Given the description of an element on the screen output the (x, y) to click on. 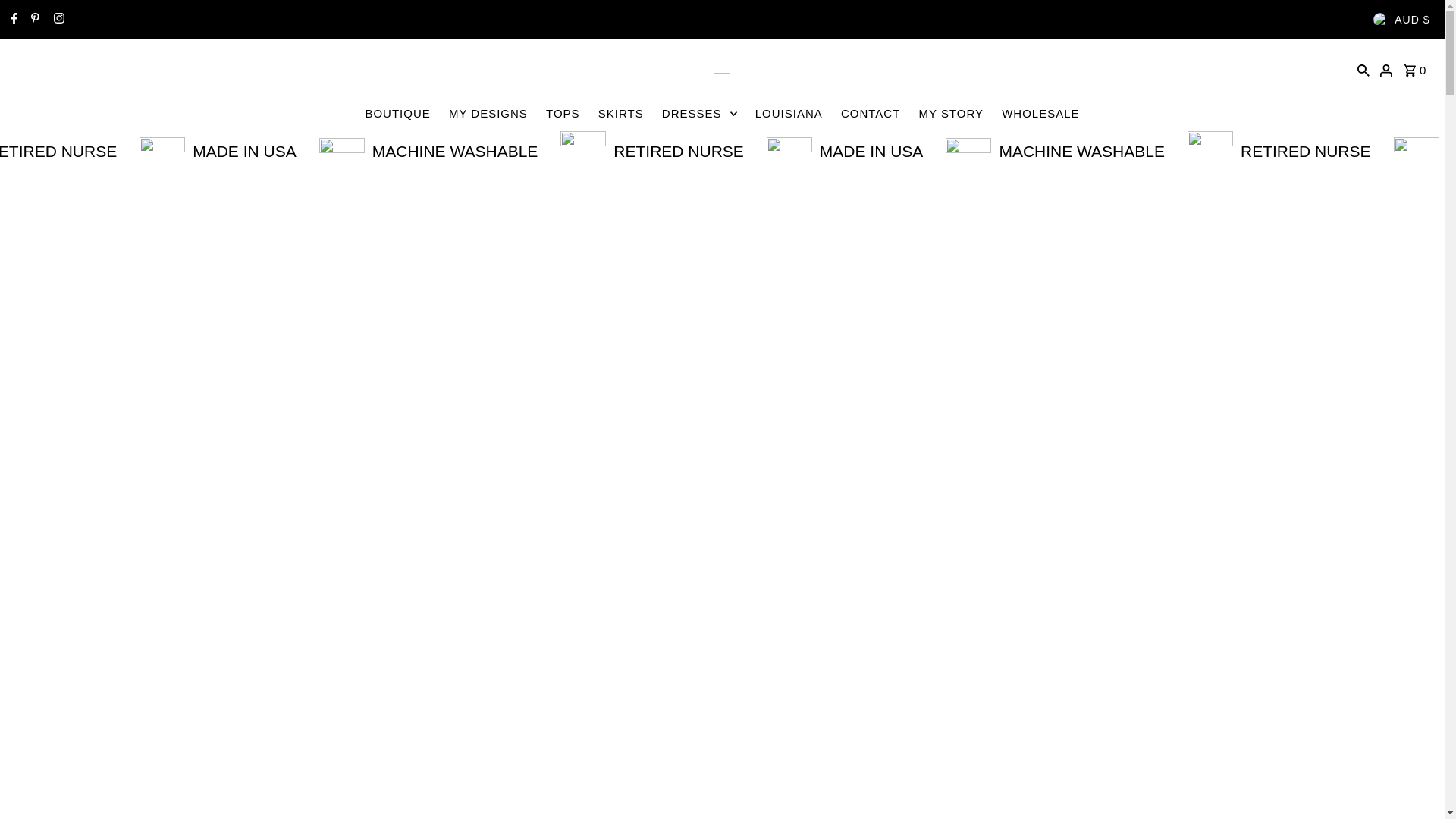
Skip to content (58, 18)
MADE IN USA (1062, 151)
MACHINE WASHABLE (647, 151)
MACHINE WASHABLE (1262, 151)
MACHINE WASHABLE (668, 151)
MADE IN USA (449, 151)
MADE IN USA (1042, 151)
MACHINE WASHABLE (77, 151)
MACHINE WASHABLE (1244, 151)
MACHINE WASHABLE (80, 151)
RETIRED NURSE (860, 151)
RETIRED NURSE (266, 151)
MADE IN USA (466, 151)
RETIRED NURSE (285, 151)
